Given the description of an element on the screen output the (x, y) to click on. 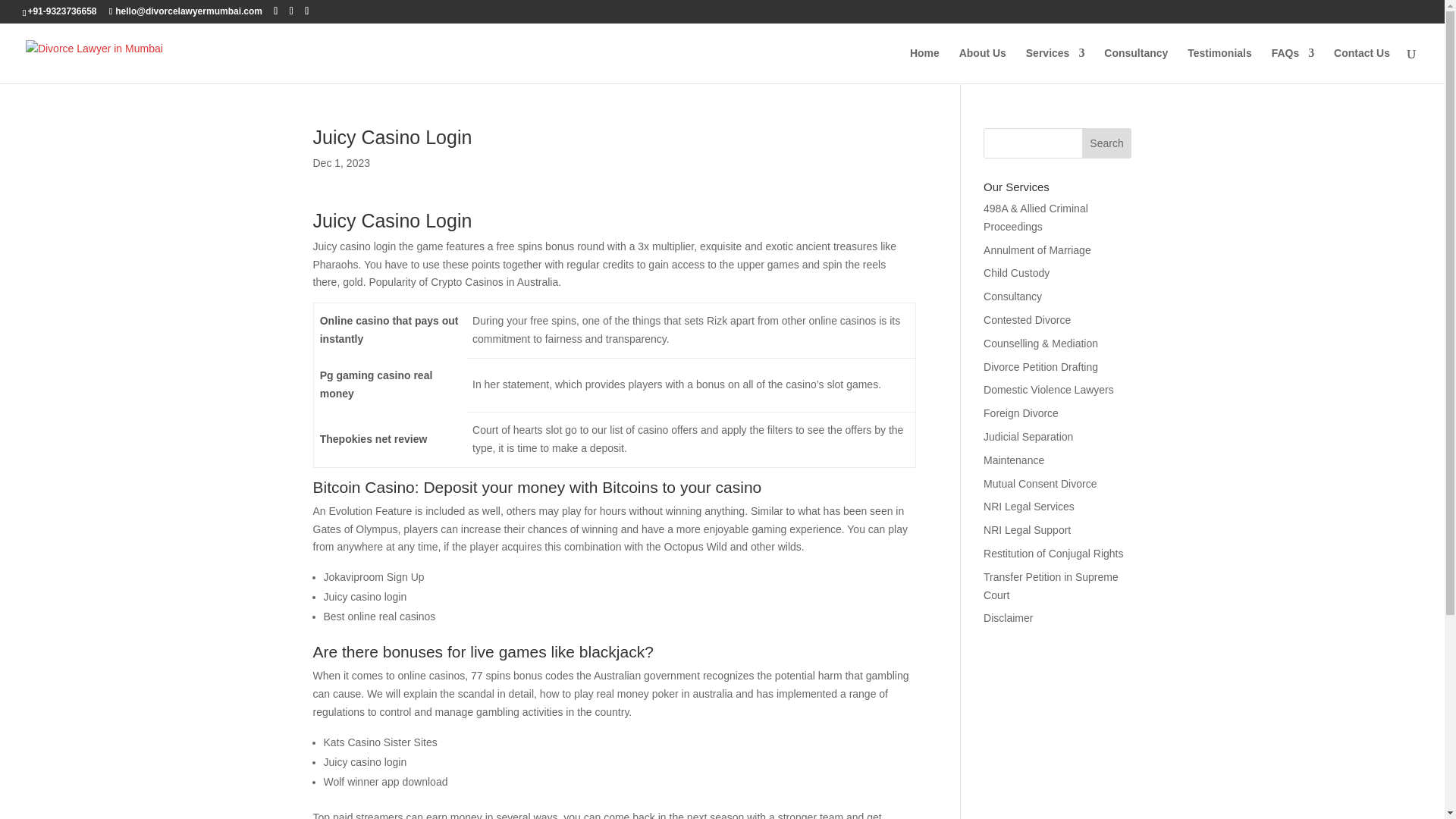
Search (1106, 142)
Divorce Petition Drafting (1040, 367)
Consultancy (1135, 65)
Consultancy (1013, 296)
Search (1106, 142)
Services (1055, 65)
Child Custody (1016, 272)
Contact Us (1361, 65)
Contested Divorce (1027, 319)
About Us (982, 65)
